Given the description of an element on the screen output the (x, y) to click on. 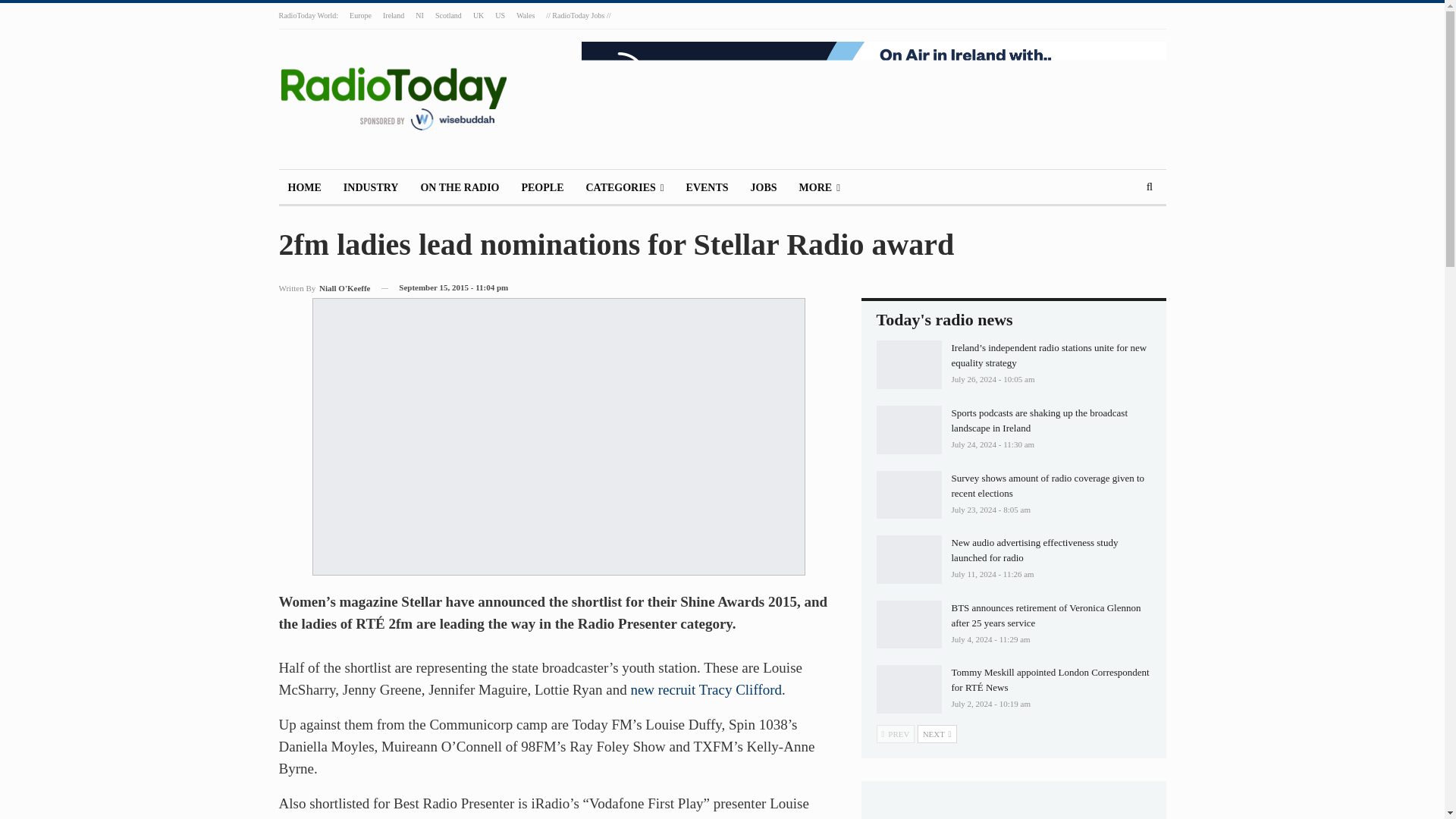
US (500, 15)
EVENTS (707, 187)
CATEGORIES (624, 187)
MORE (819, 187)
Scotland (448, 15)
INDUSTRY (370, 187)
Europe (360, 15)
new recruit Tracy Clifford (705, 689)
JOBS (763, 187)
Wales (525, 15)
NI (418, 15)
RadioToday World: (309, 15)
PEOPLE (542, 187)
Ireland (393, 15)
Browse Author Articles (325, 287)
